Given the description of an element on the screen output the (x, y) to click on. 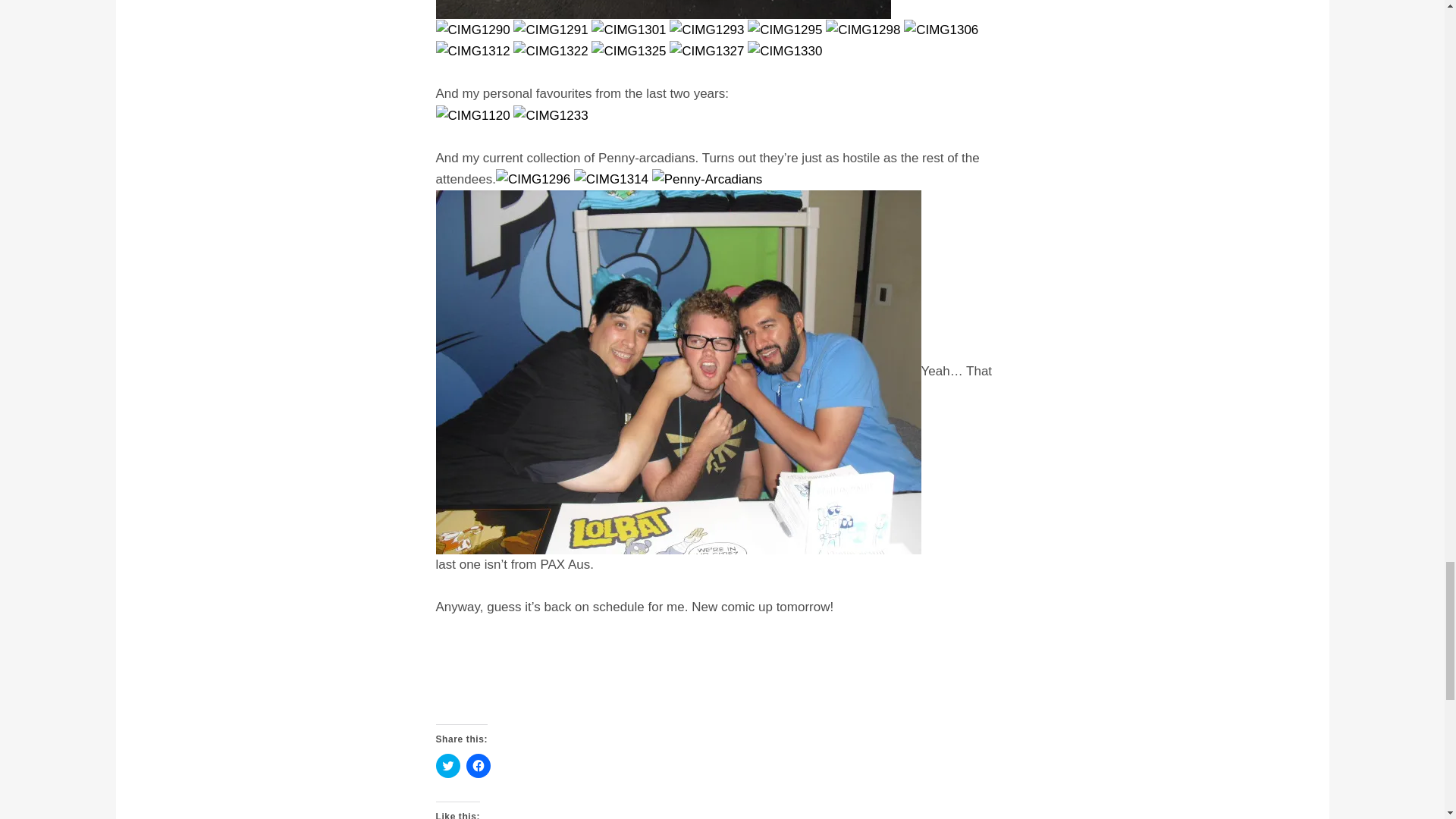
Click to share on Twitter (447, 765)
Click to share on Facebook (477, 765)
